Given the description of an element on the screen output the (x, y) to click on. 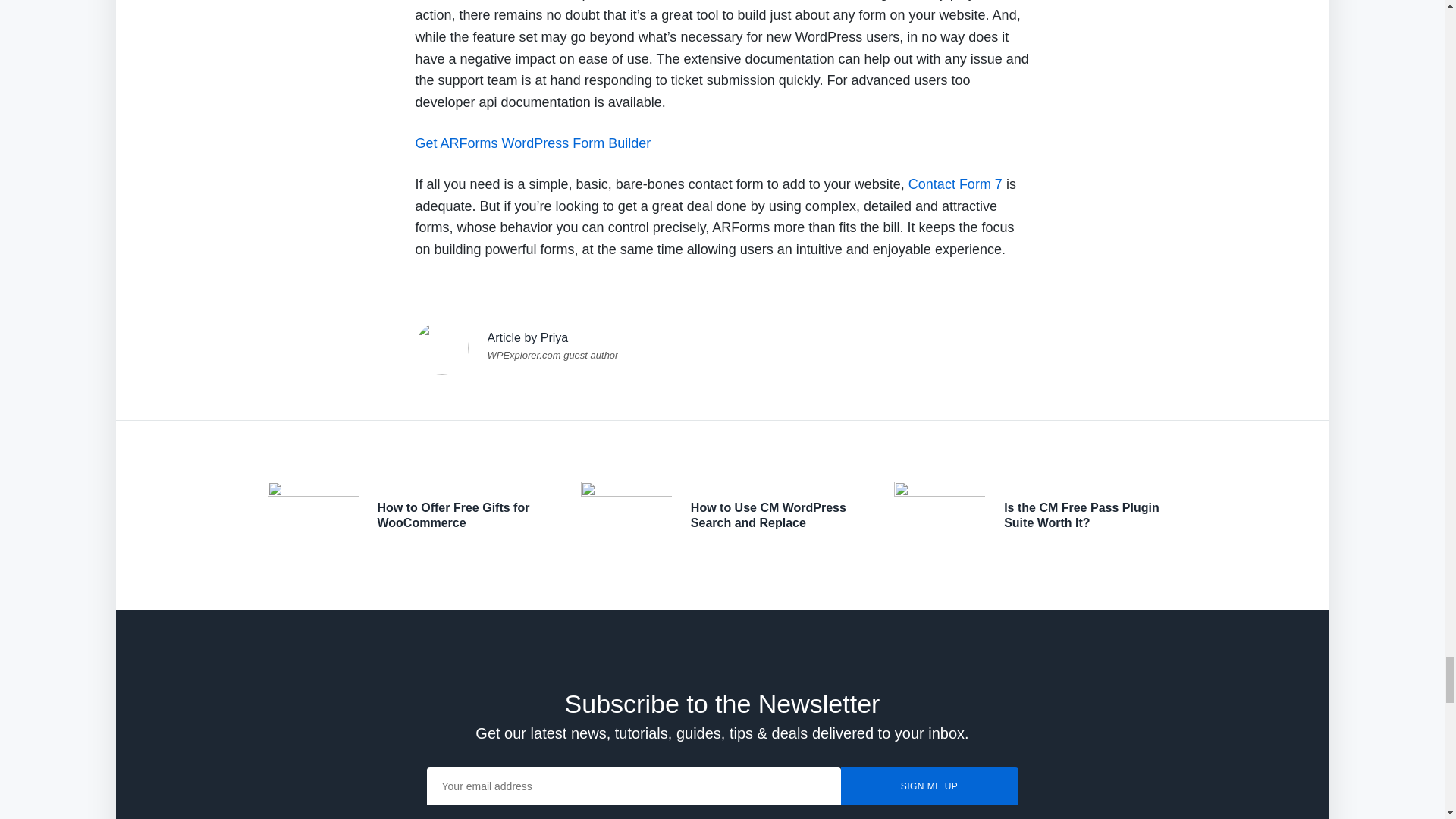
How to Offer Free Gifts for WooCommerce (453, 515)
SIGN ME UP (928, 786)
How to Use CM WordPress Search and Replace (767, 515)
Contact Form 7 (955, 183)
Get ARForms WordPress Form Builder (532, 142)
Is the CM Free Pass Plugin Suite Worth It? (1081, 515)
